Given the description of an element on the screen output the (x, y) to click on. 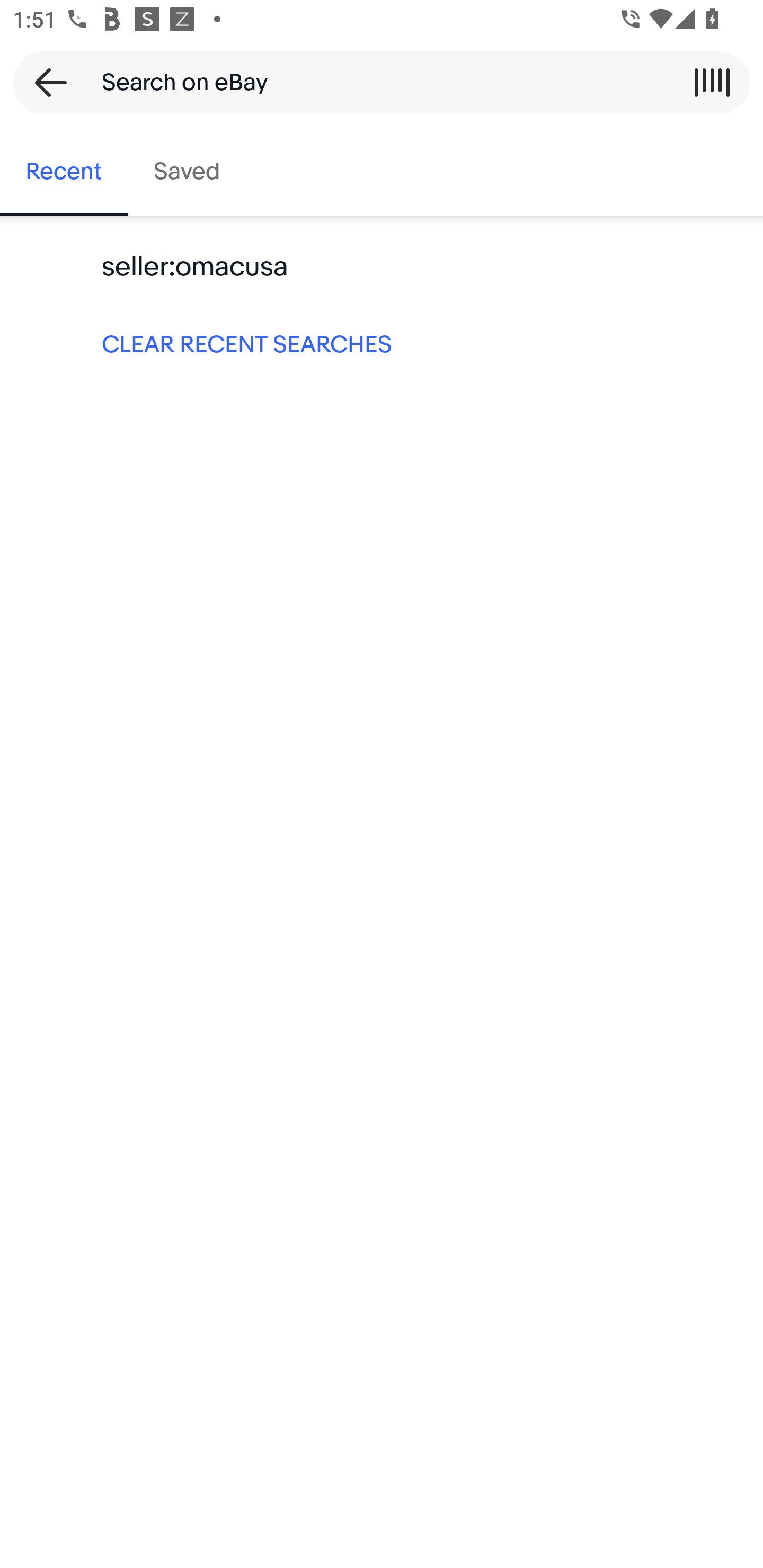
Back (44, 82)
Scan a barcode (711, 82)
Search on eBay (375, 82)
Saved, tab 2 of 2 Saved (186, 171)
seller:omacusa Keyword search seller:omacusa: (381, 266)
CLEAR RECENT SEARCHES (381, 343)
